Given the description of an element on the screen output the (x, y) to click on. 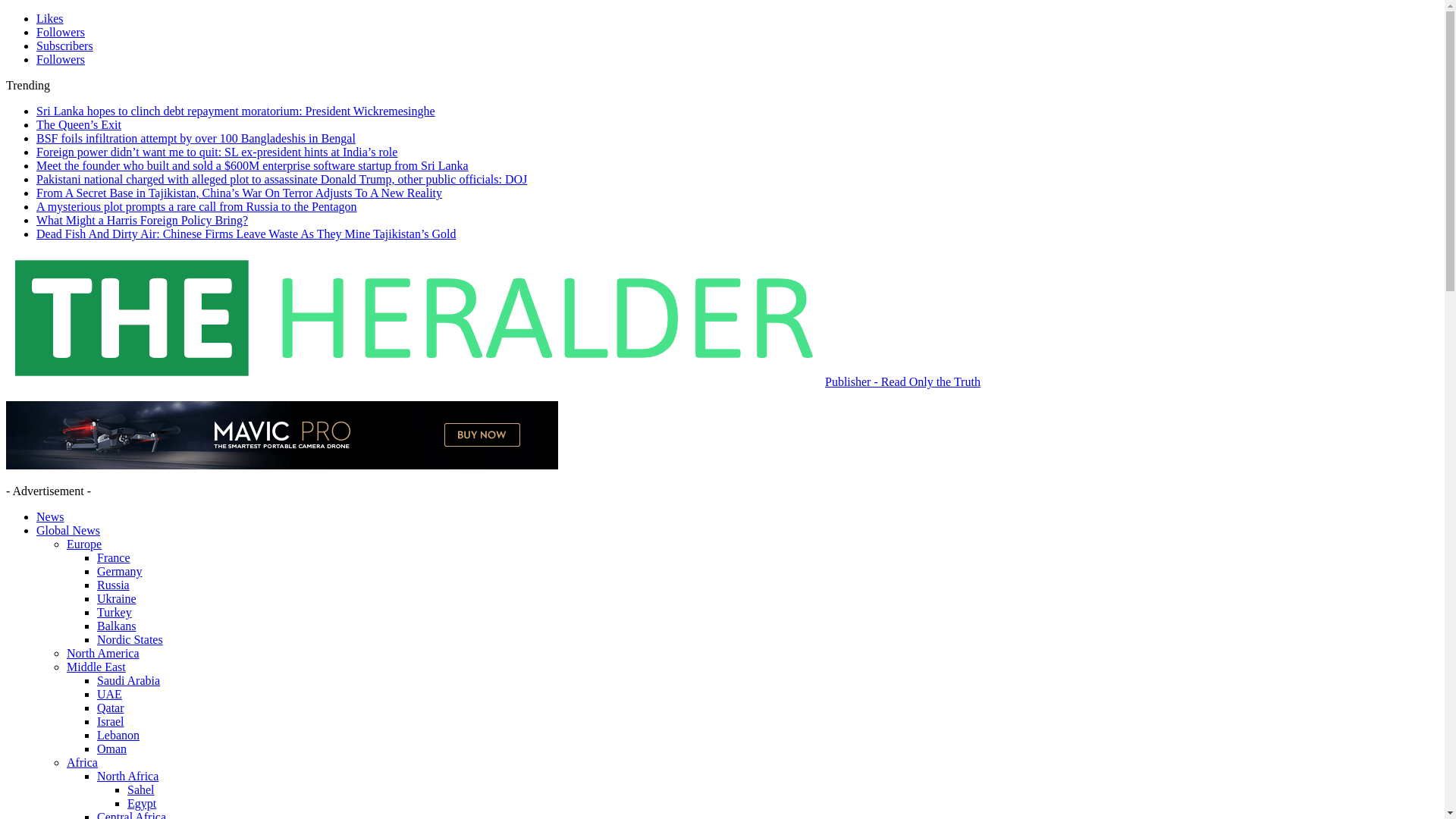
Followers (60, 31)
Africa (81, 762)
France (114, 557)
UAE (109, 694)
Germany (119, 571)
What Might a Harris Foreign Policy Bring? (141, 219)
News (50, 516)
Israel (110, 721)
Sahel (141, 789)
